Given the description of an element on the screen output the (x, y) to click on. 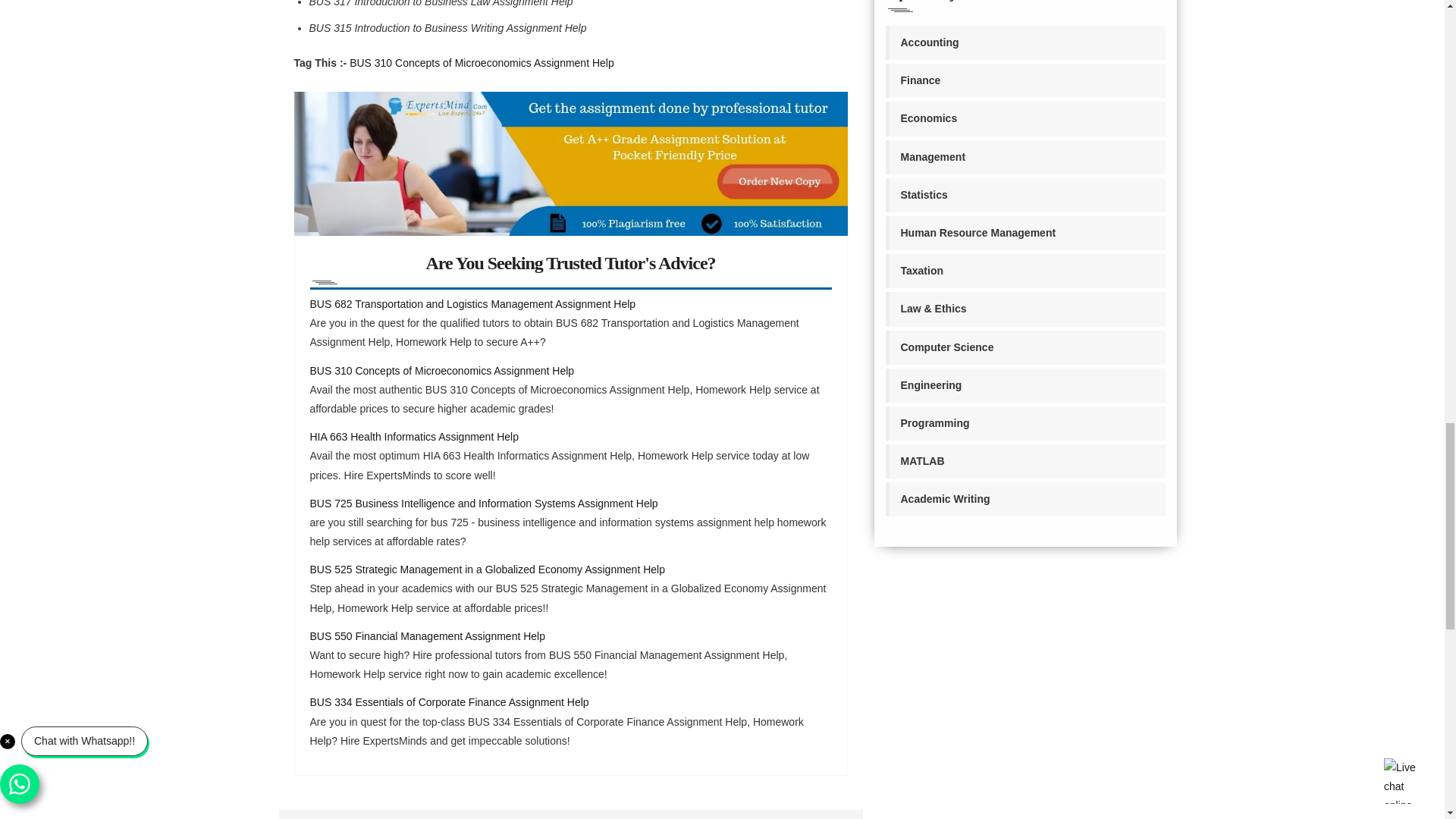
accounting assignment help (1025, 42)
BUS 550 Financial Management Assignment Help (426, 635)
Finance assignment help (1025, 80)
BUS 334 Essentials of Corporate Finance Assignment Help (448, 702)
Statistics assignment help (1025, 195)
Management assignment help (1025, 157)
BUS 310 Concepts of Microeconomics Assignment Help (440, 370)
HIA 663 Health Informatics Assignment Help (413, 436)
Economics assignment help (1025, 118)
BUS 334 Essentials of Corporate Finance Assignment Help (448, 702)
HIA 663 Health Informatics Assignment Help (413, 436)
taxation assignment help (1025, 270)
